Given the description of an element on the screen output the (x, y) to click on. 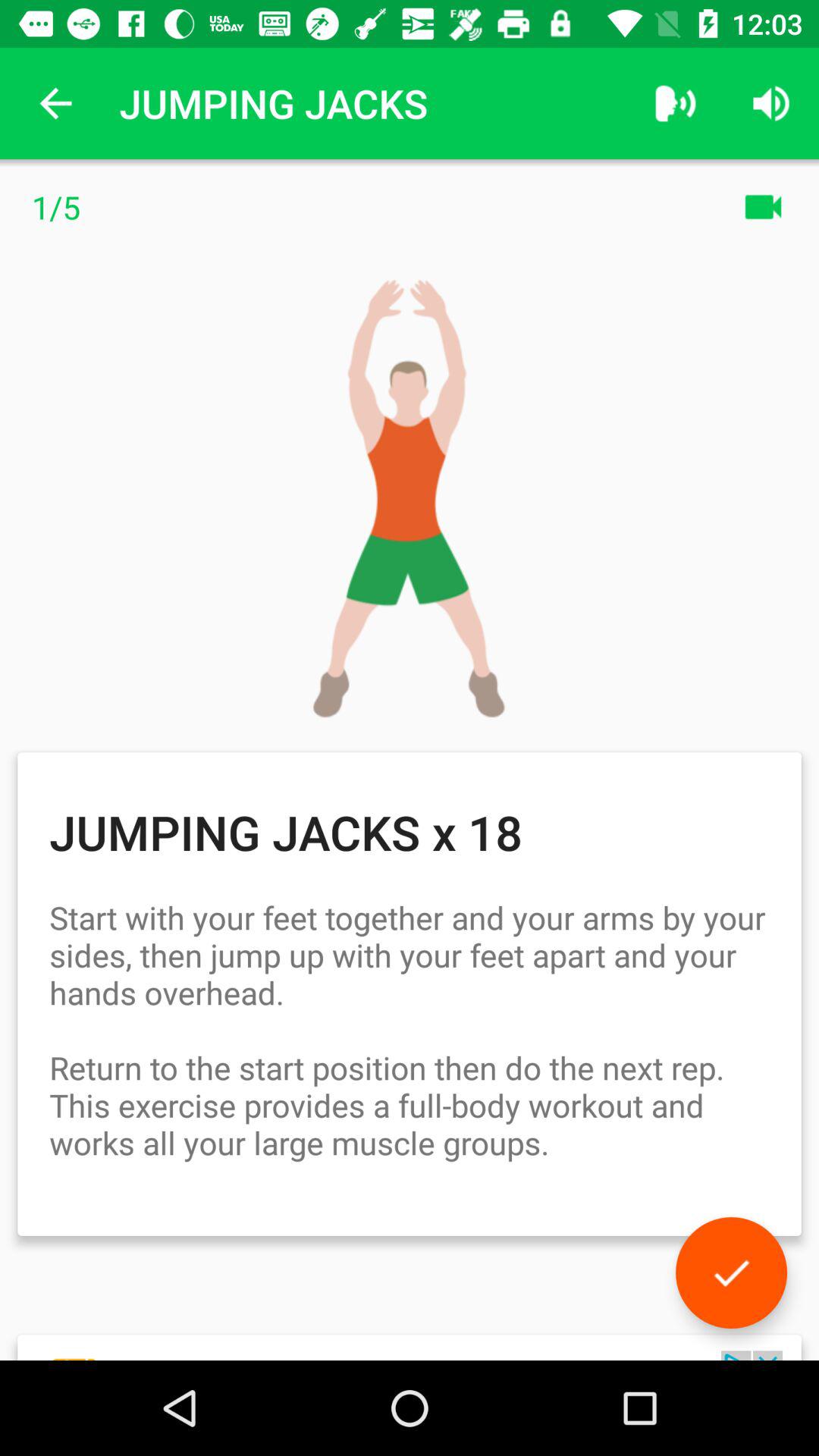
turn on icon below the start with your icon (731, 1272)
